Given the description of an element on the screen output the (x, y) to click on. 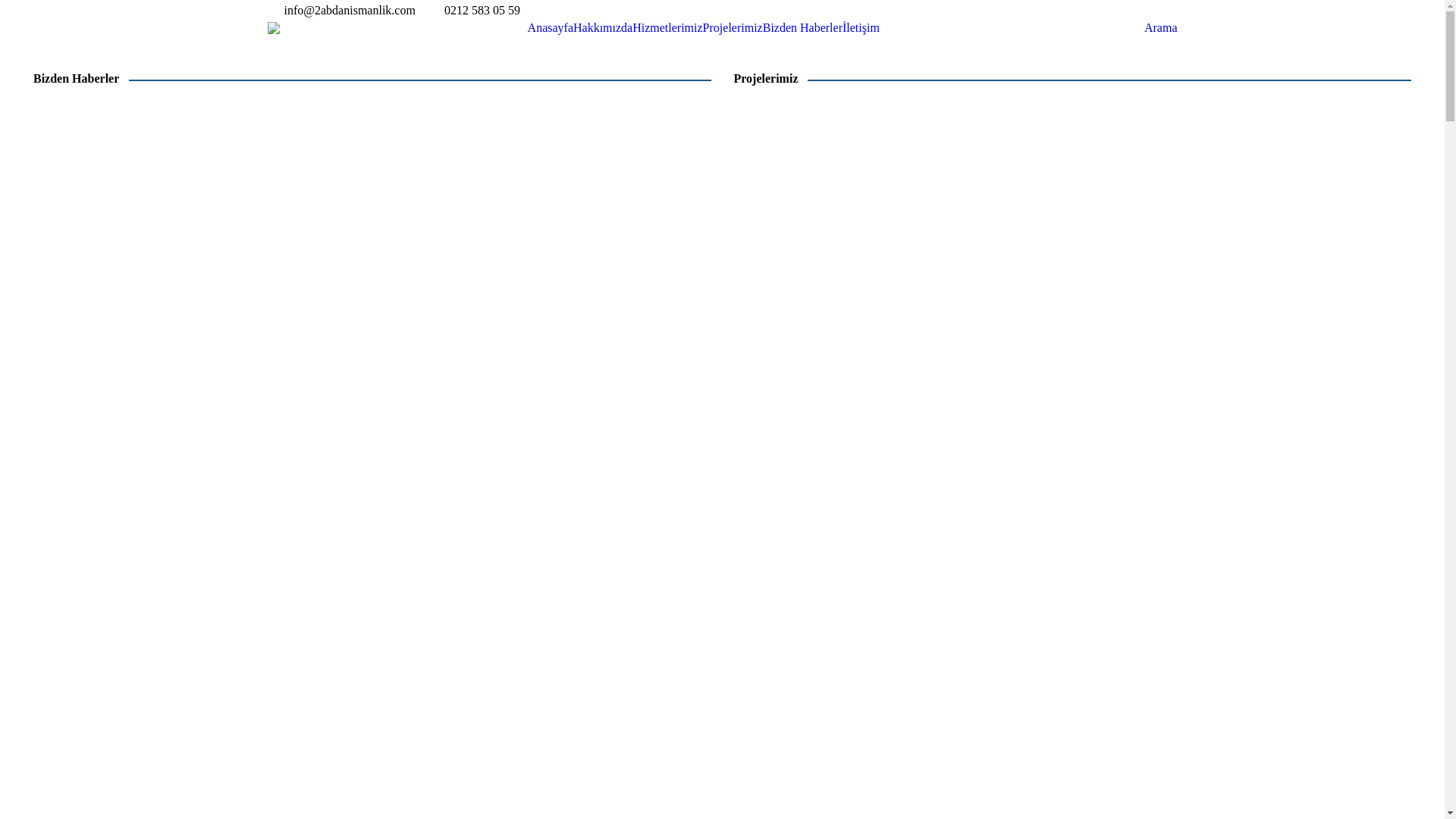
Projelerimiz Element type: text (732, 27)
Bizden Haberler Element type: text (802, 27)
Go! Element type: text (9, 6)
Anasayfa Element type: text (550, 27)
Arama Element type: text (1152, 27)
Hizmetlerimiz Element type: text (667, 27)
